Given the description of an element on the screen output the (x, y) to click on. 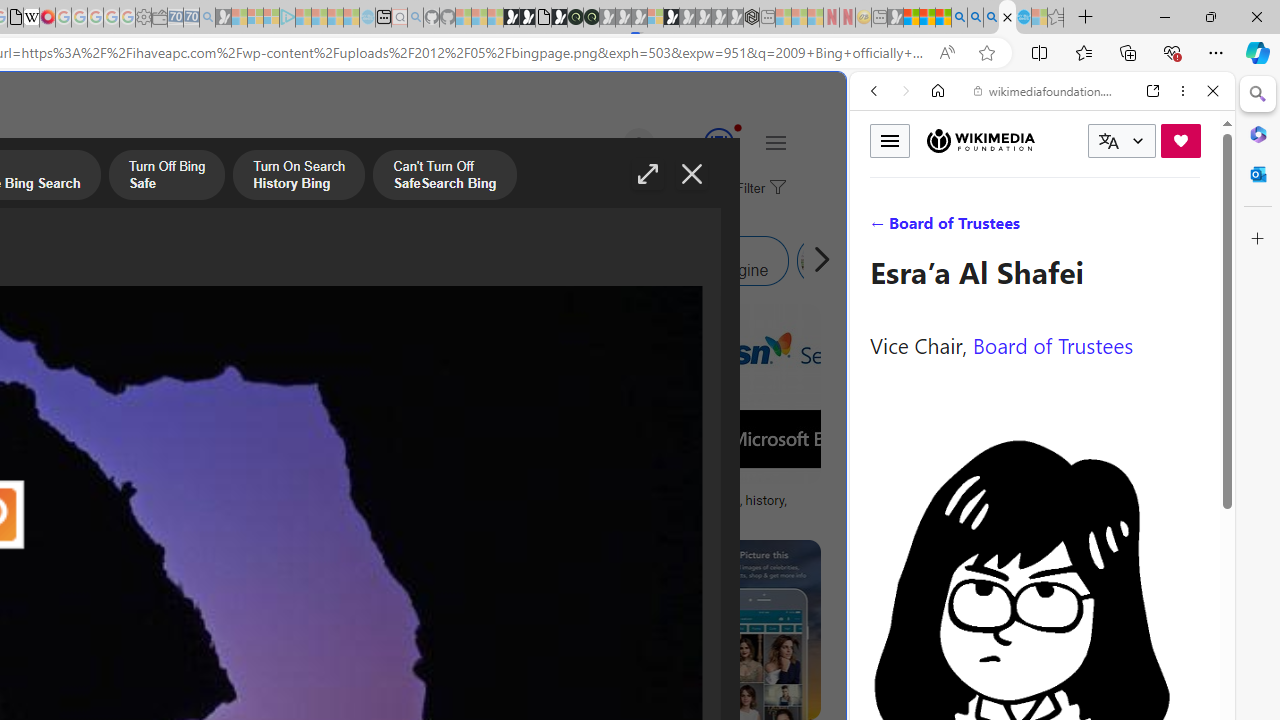
Eugene (611, 143)
Web scope (882, 180)
IMAGES (939, 228)
Class: b_serphb (1190, 229)
MSN Homepage Bing Search Engine (151, 260)
Wikimedia Foundation (980, 140)
Bing AI - Search (959, 17)
AutomationID: rh_meter (718, 142)
Full screen (648, 173)
Play Free Online Games | Games from Microsoft Start (511, 17)
